Given the description of an element on the screen output the (x, y) to click on. 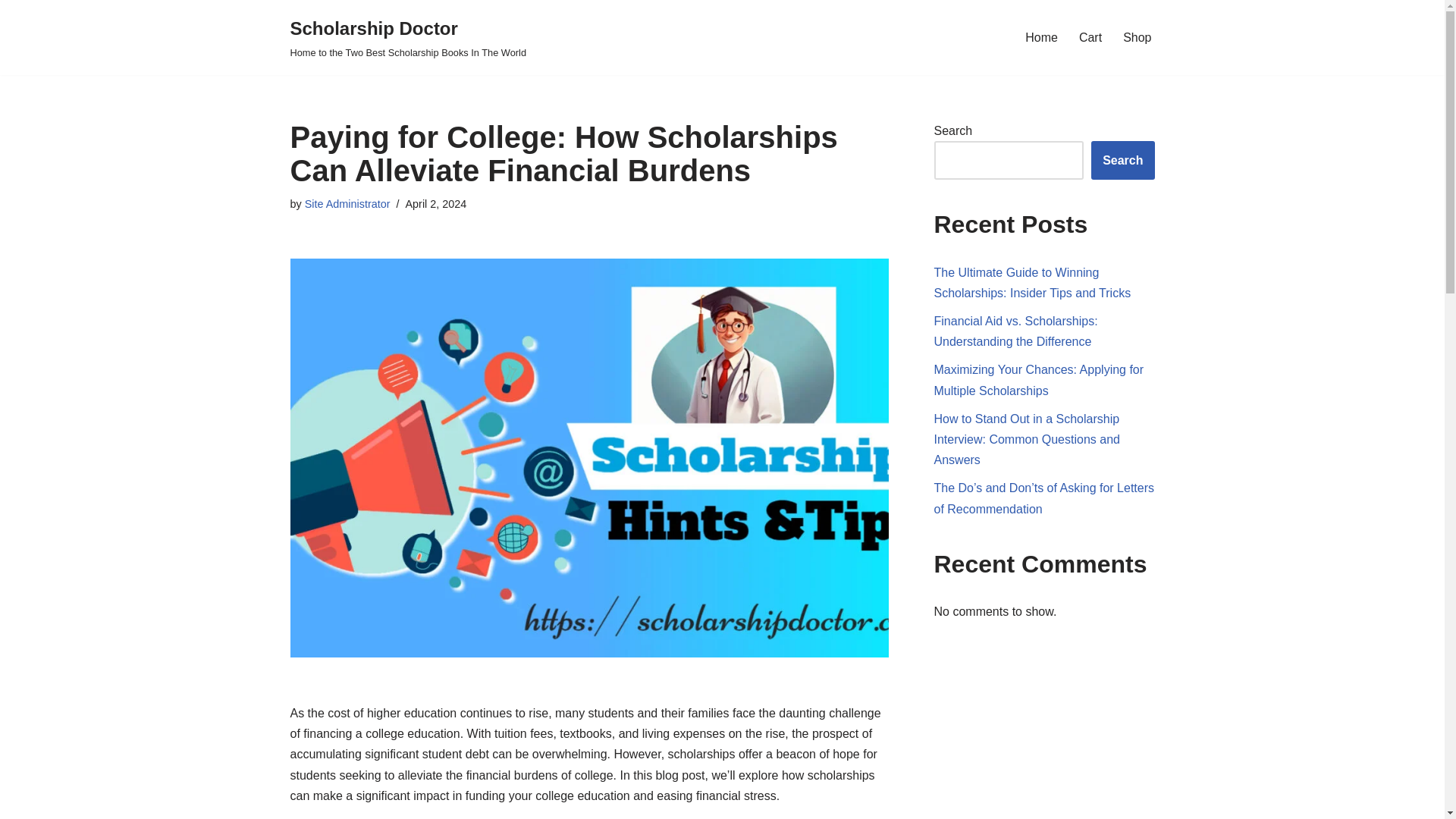
Site Administrator (347, 203)
Posts by Site Administrator (347, 203)
Skip to content (11, 31)
Maximizing Your Chances: Applying for Multiple Scholarships (1039, 379)
Financial Aid vs. Scholarships: Understanding the Difference (1015, 331)
Home (1041, 37)
Shop (1136, 37)
